Given the description of an element on the screen output the (x, y) to click on. 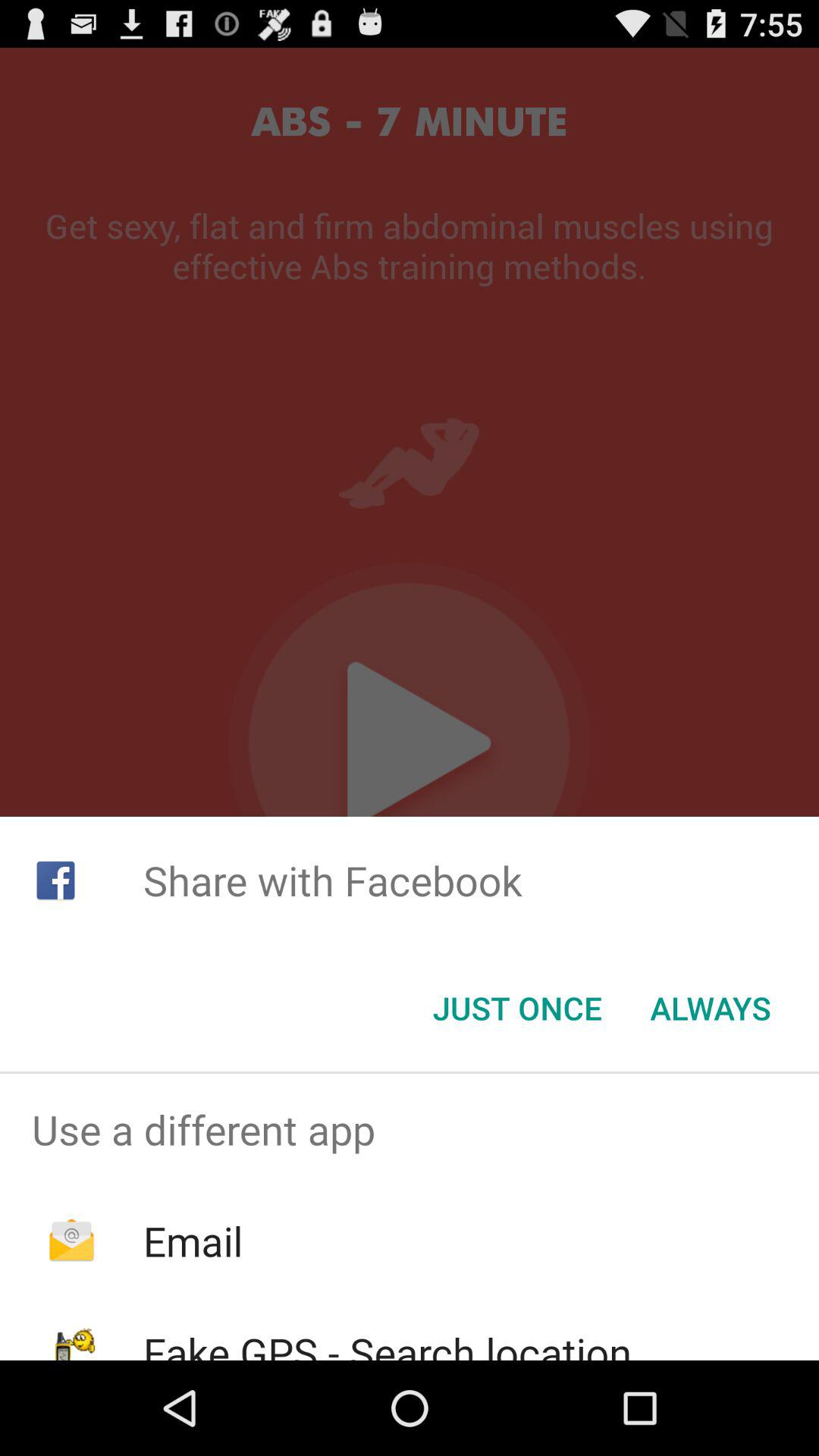
scroll until always item (710, 1007)
